Given the description of an element on the screen output the (x, y) to click on. 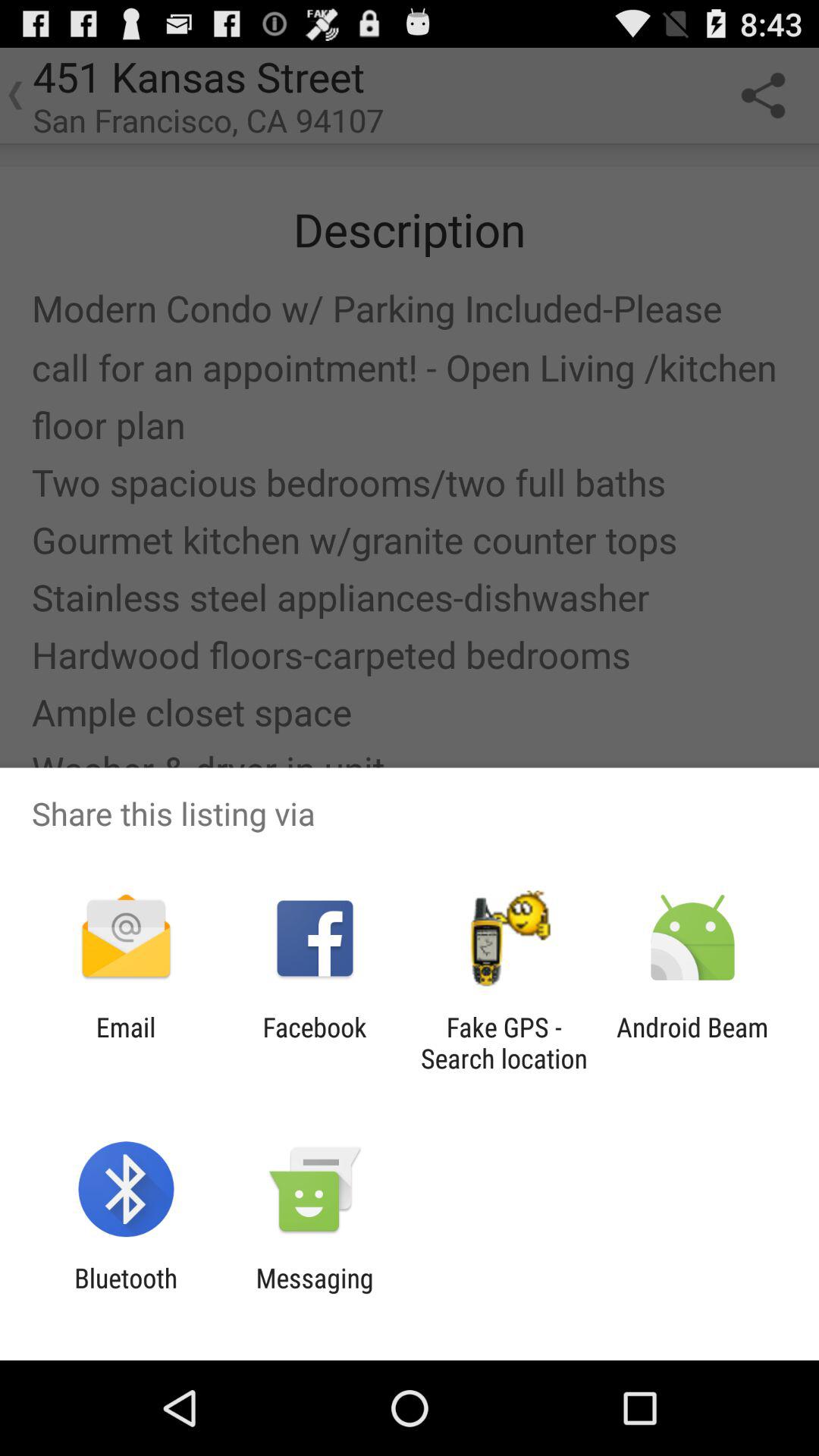
click the app to the left of facebook item (125, 1042)
